Given the description of an element on the screen output the (x, y) to click on. 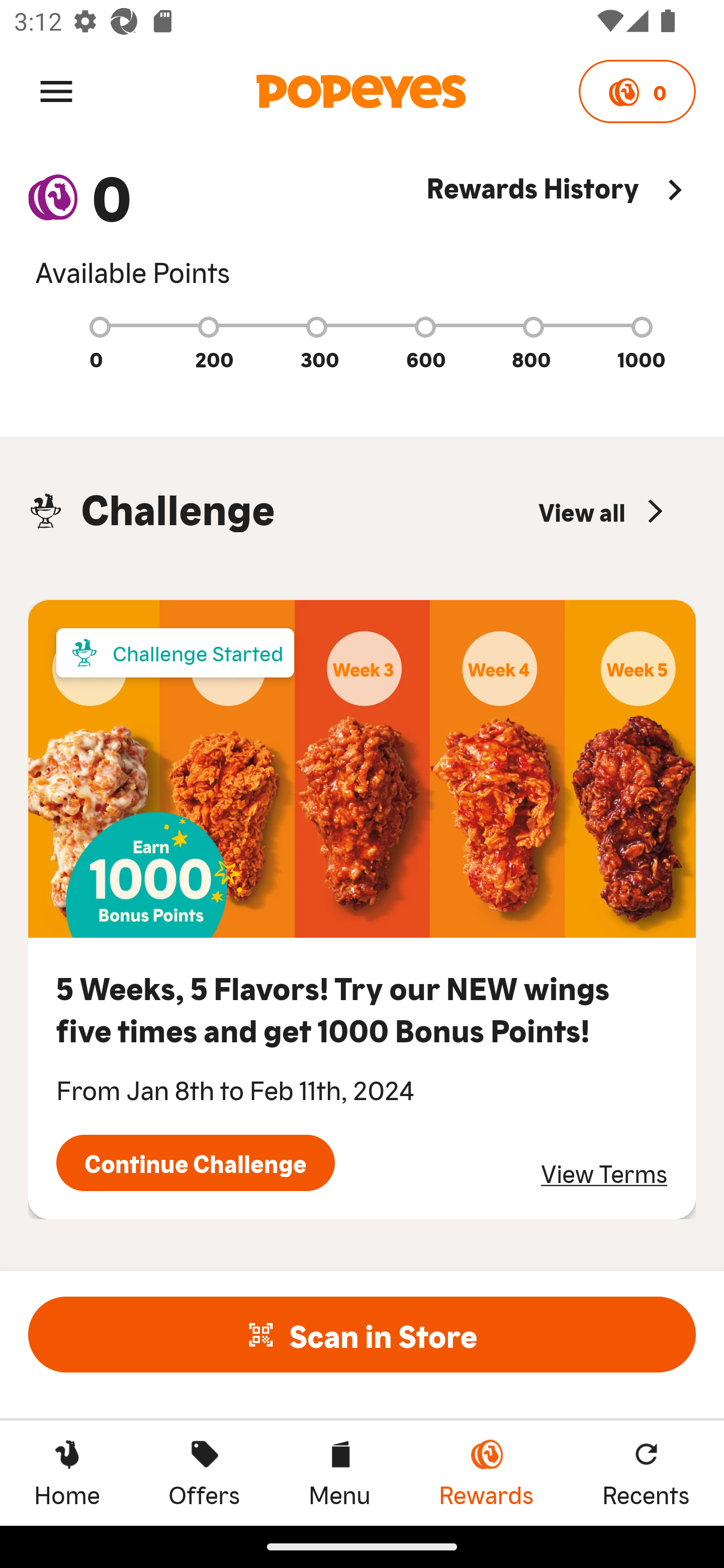
Menu  (56, 90)
0 Points 0 (636, 91)
Rewards History Rewards History  (560, 228)
View all (602, 511)
Continue Challenge (195, 1163)
View Terms (603, 1172)
Scan in Store  Scan in Store (361, 1334)
Home Home Home (66, 1472)
Offers Offers Offers (203, 1472)
Menu Menu Menu (339, 1472)
Recents Recents Recents (646, 1472)
